Given the description of an element on the screen output the (x, y) to click on. 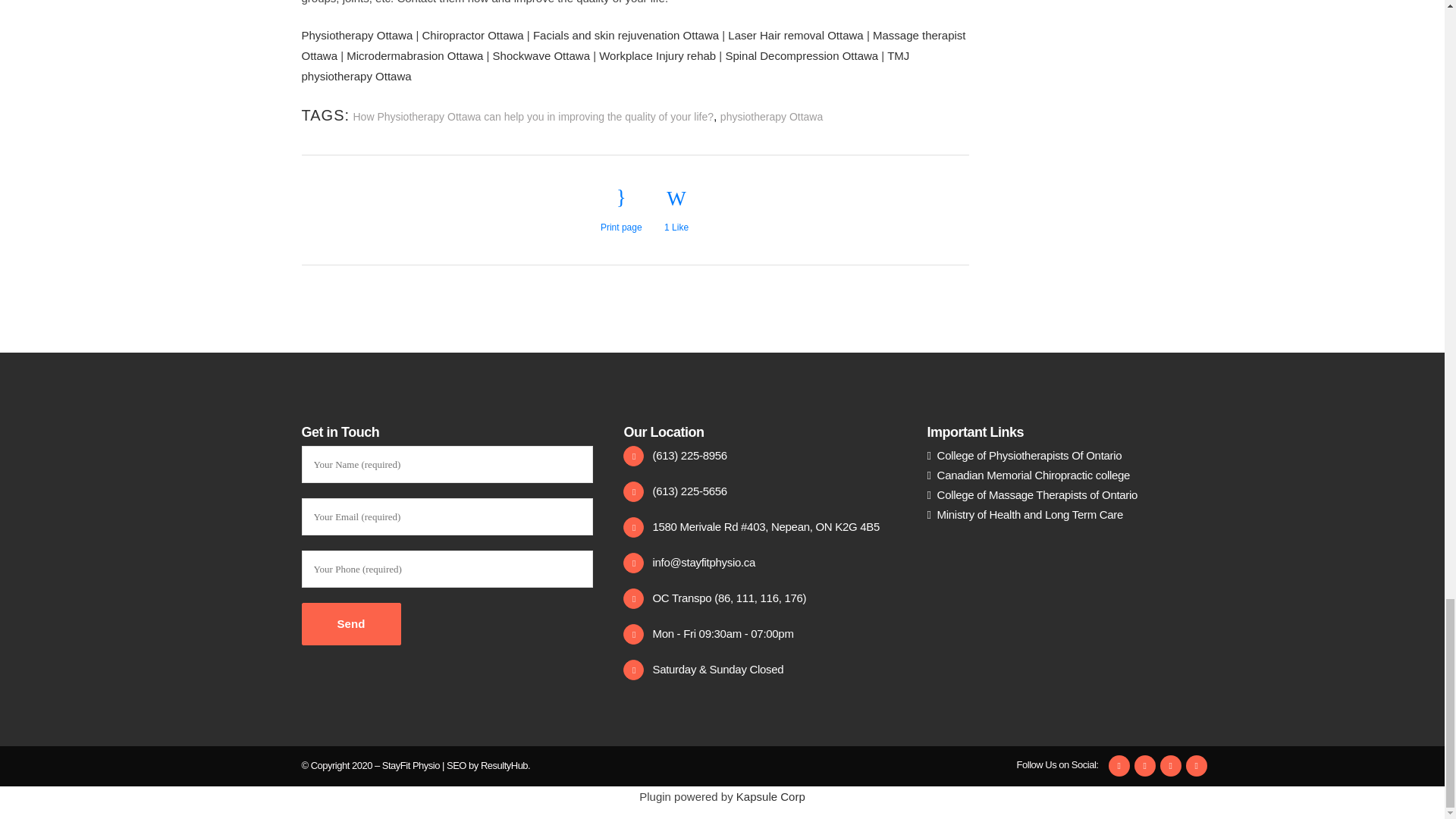
Send (351, 623)
